Given the description of an element on the screen output the (x, y) to click on. 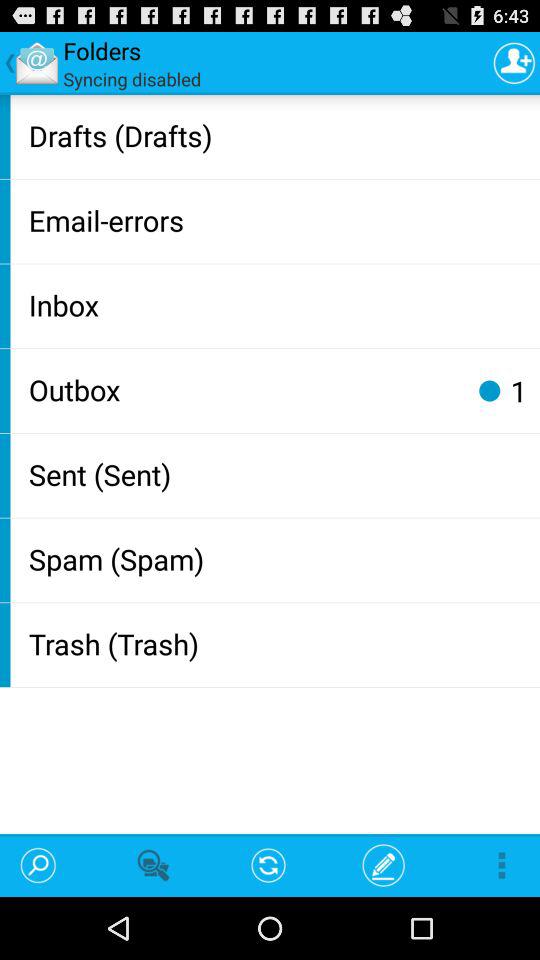
choose the app below the syncing disabled icon (280, 134)
